Given the description of an element on the screen output the (x, y) to click on. 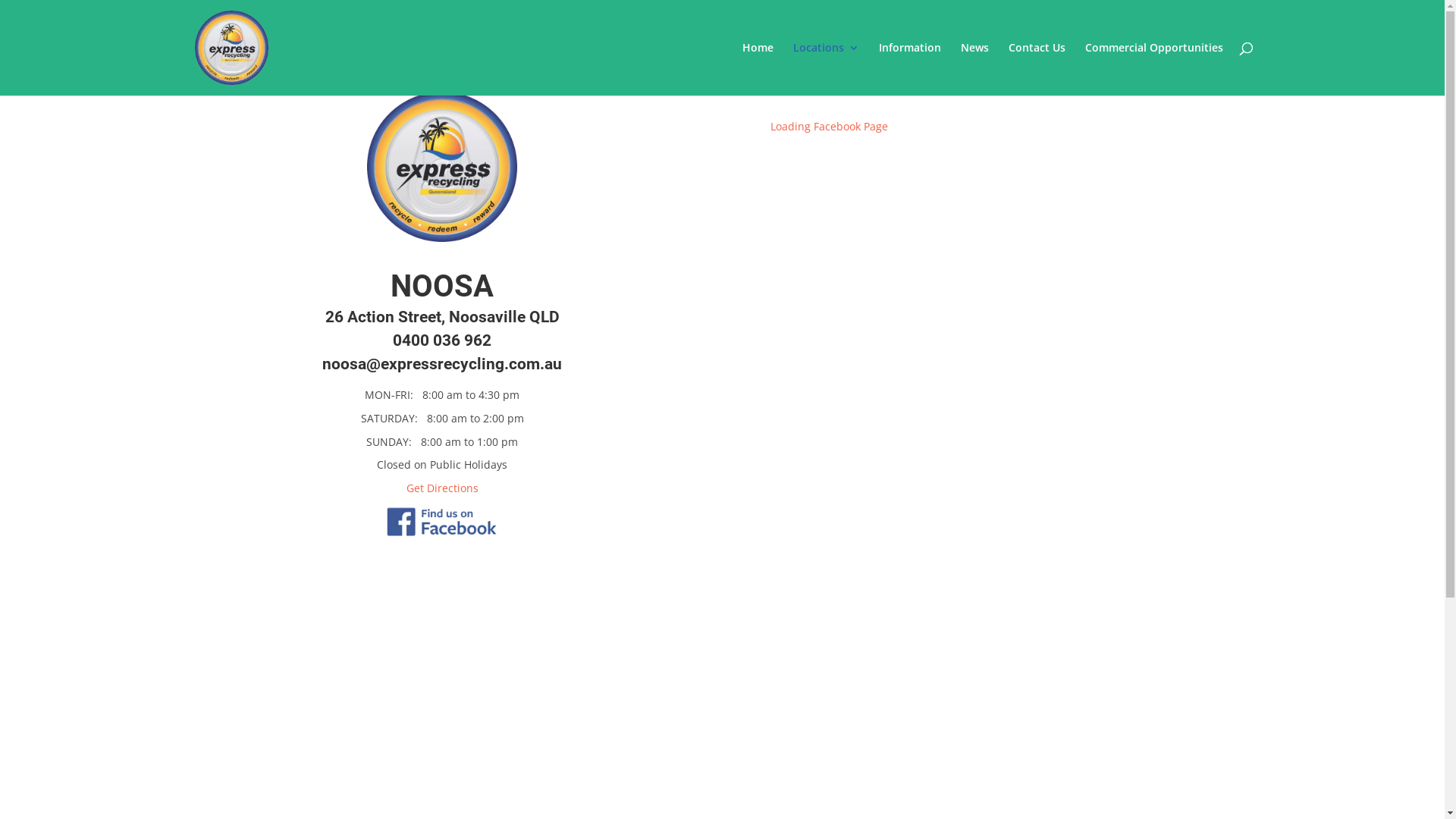
Information Element type: text (909, 68)
0400 036 962 Element type: text (441, 340)
News Element type: text (974, 68)
Get Directions Element type: text (442, 487)
Locations Element type: text (826, 68)
Contact Us Element type: text (1036, 68)
Commercial Opportunities Element type: text (1153, 68)
Loading Facebook Page Element type: text (829, 126)
noosa@expressrecycling.com.au Element type: text (441, 363)
Home Element type: text (756, 68)
